Given the description of an element on the screen output the (x, y) to click on. 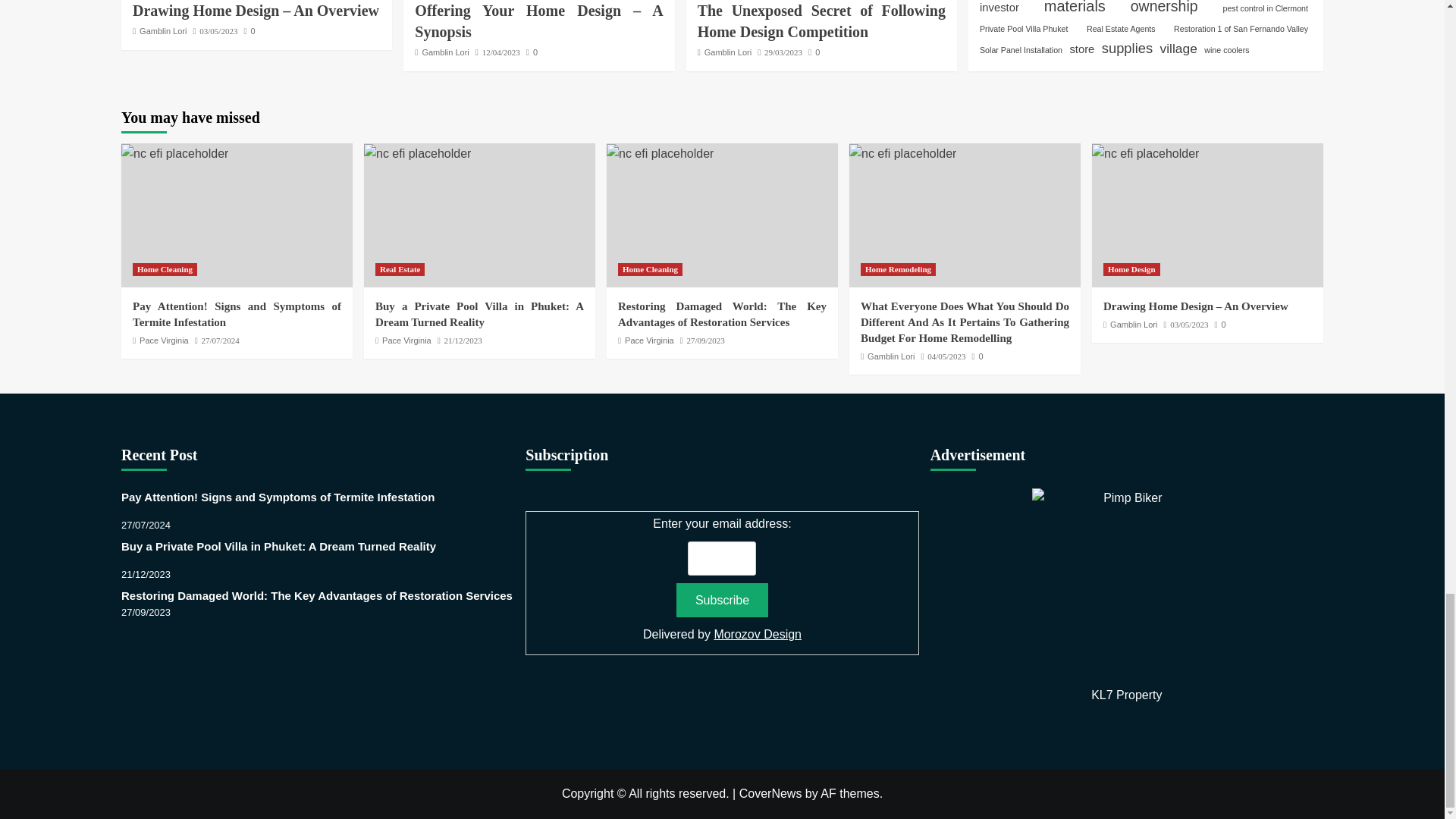
Subscribe (722, 600)
Gamblin Lori (162, 31)
